Given the description of an element on the screen output the (x, y) to click on. 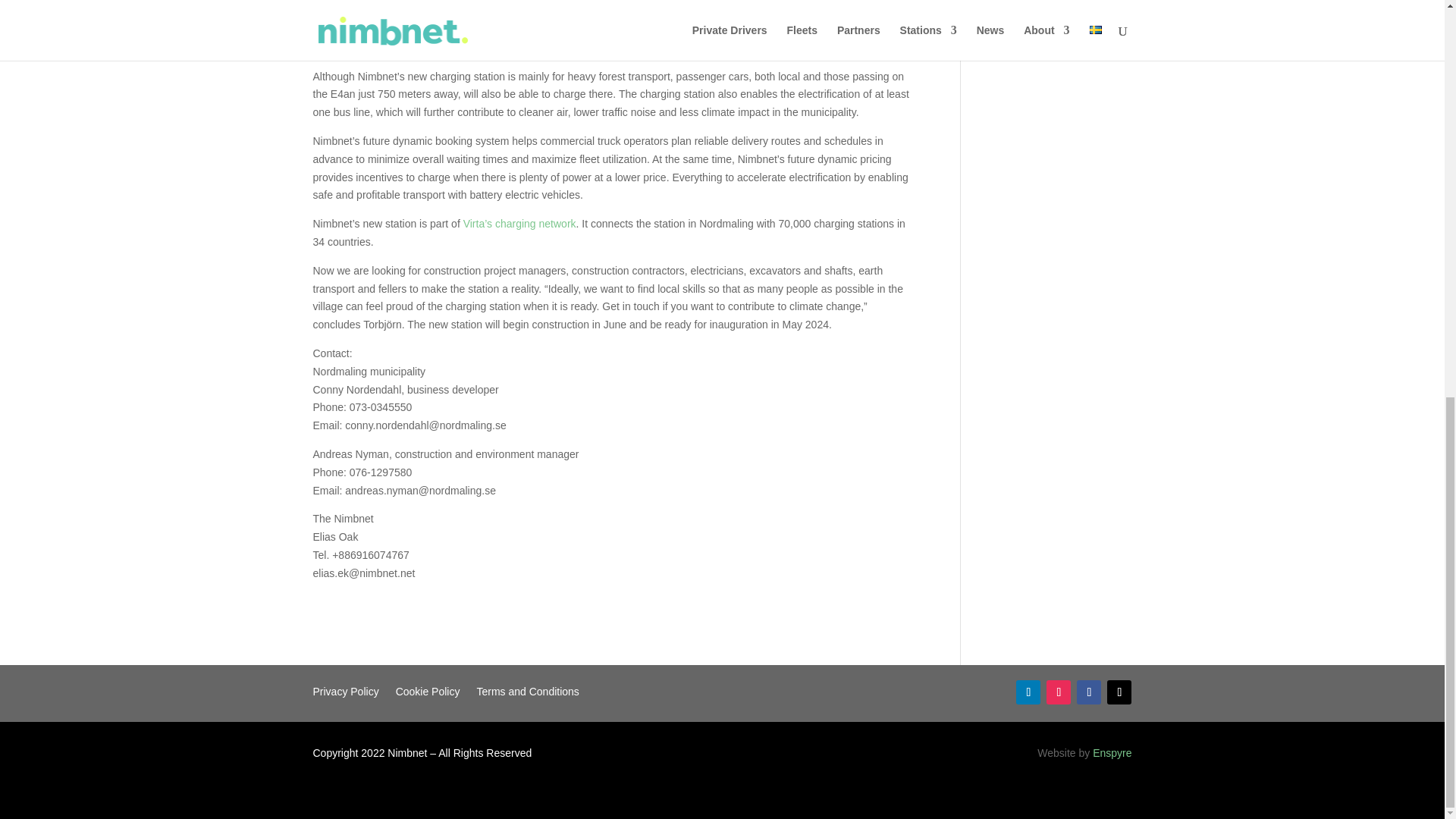
Cookie Policy (428, 694)
Enspyre (1112, 752)
Follow on Facebook (1088, 692)
Terms and Conditions (527, 694)
Follow on X (1118, 692)
Follow on Instagram (1058, 692)
Follow on LinkedIn (1028, 692)
Privacy Policy (345, 694)
